Given the description of an element on the screen output the (x, y) to click on. 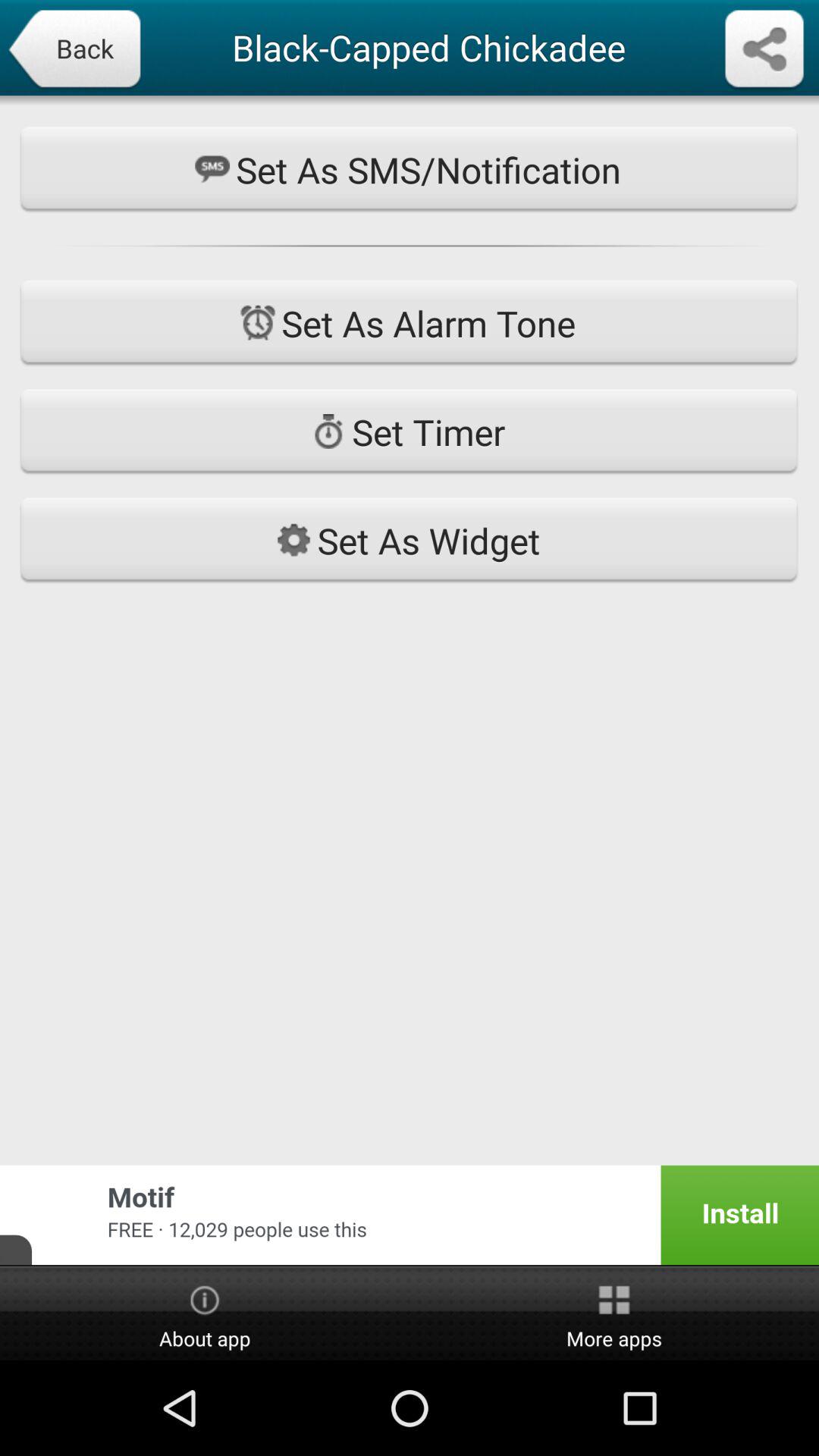
share information (764, 50)
